Given the description of an element on the screen output the (x, y) to click on. 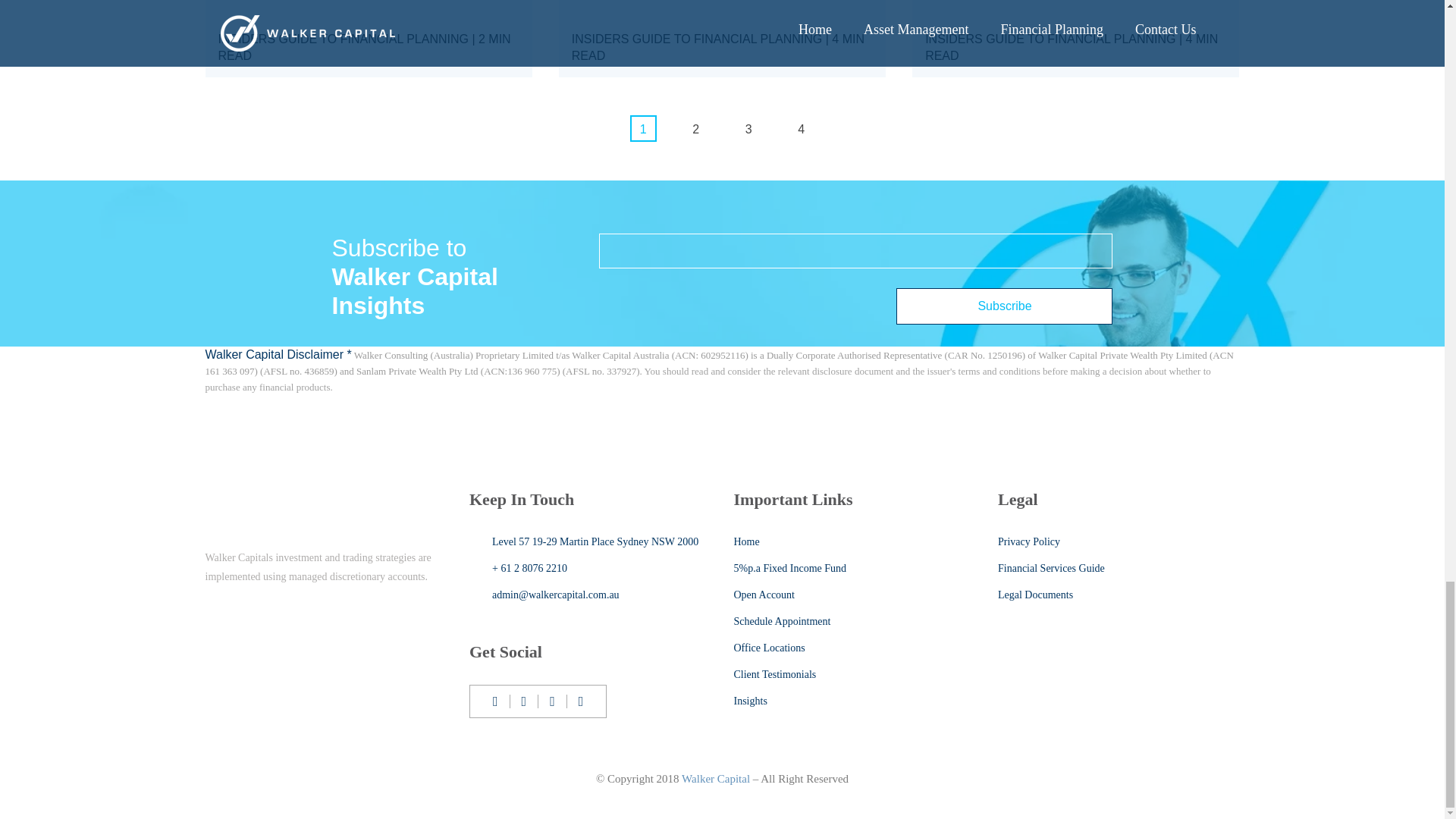
Subscribe (1004, 306)
